Given the description of an element on the screen output the (x, y) to click on. 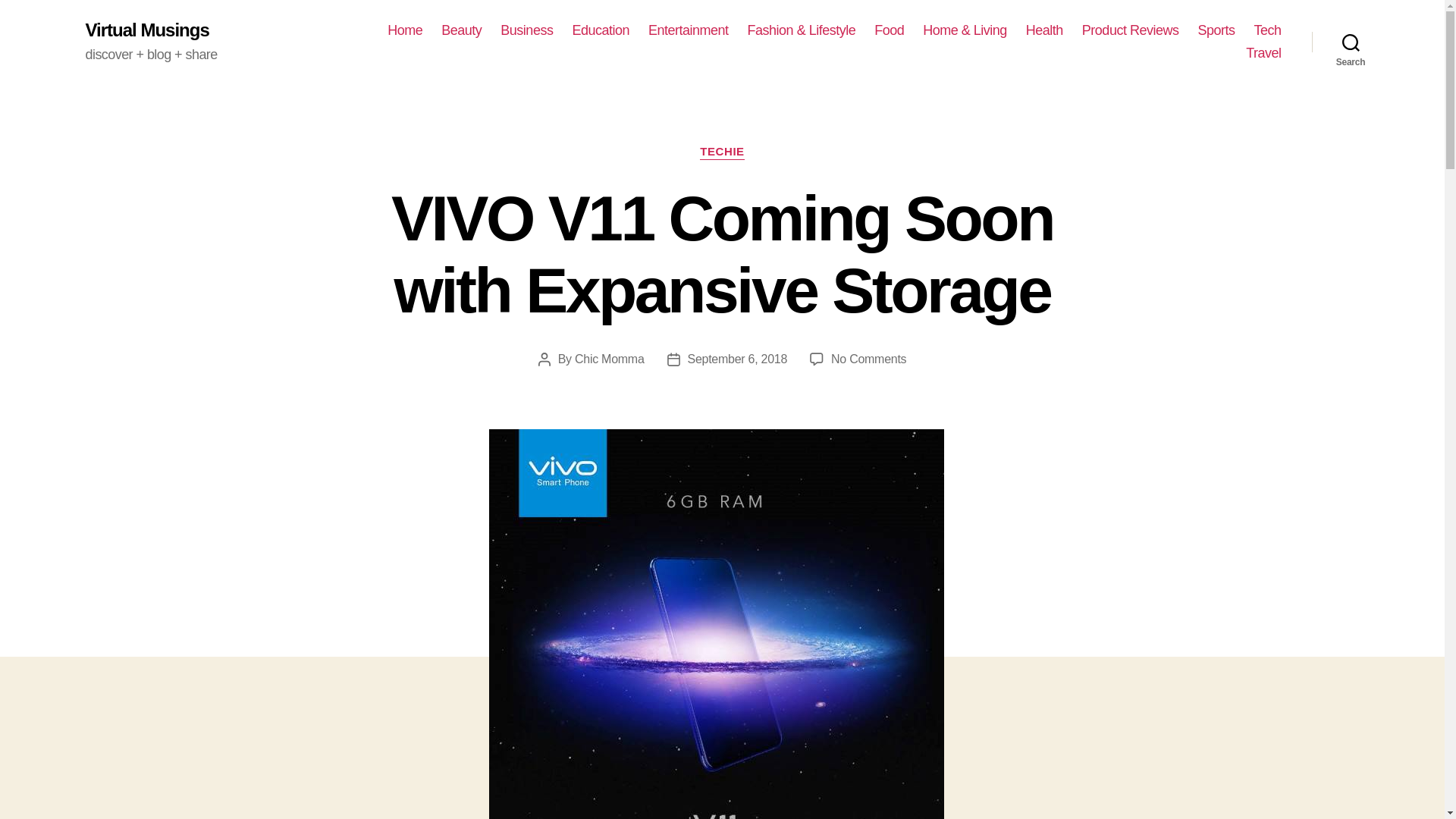
TECHIE (722, 151)
Food (889, 30)
Beauty (461, 30)
Virtual Musings (146, 30)
Entertainment (688, 30)
Tech (1267, 30)
Education (600, 30)
Sports (1215, 30)
Business (526, 30)
Product Reviews (1130, 30)
Health (1044, 30)
Home (404, 30)
Travel (1263, 53)
September 6, 2018 (737, 358)
Chic Momma (610, 358)
